Given the description of an element on the screen output the (x, y) to click on. 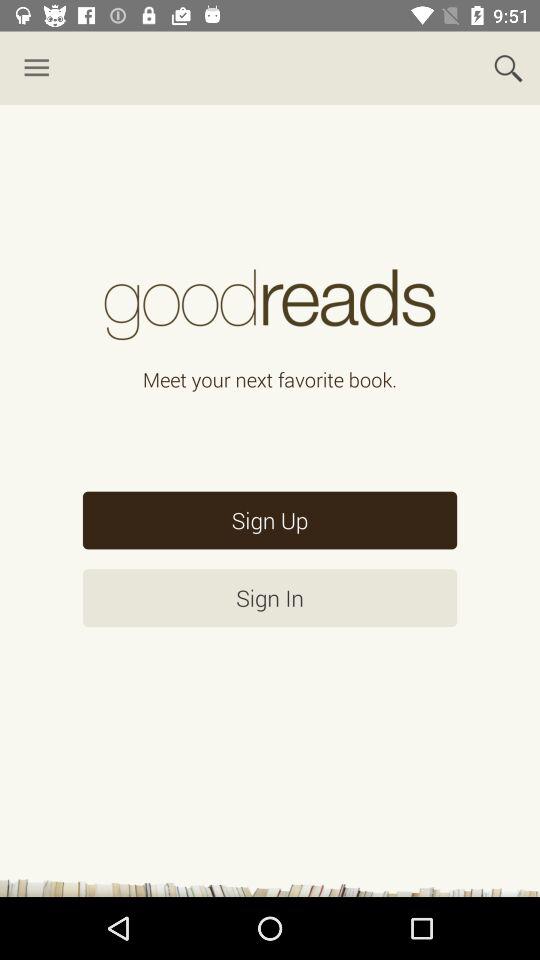
choose sign up item (269, 520)
